Given the description of an element on the screen output the (x, y) to click on. 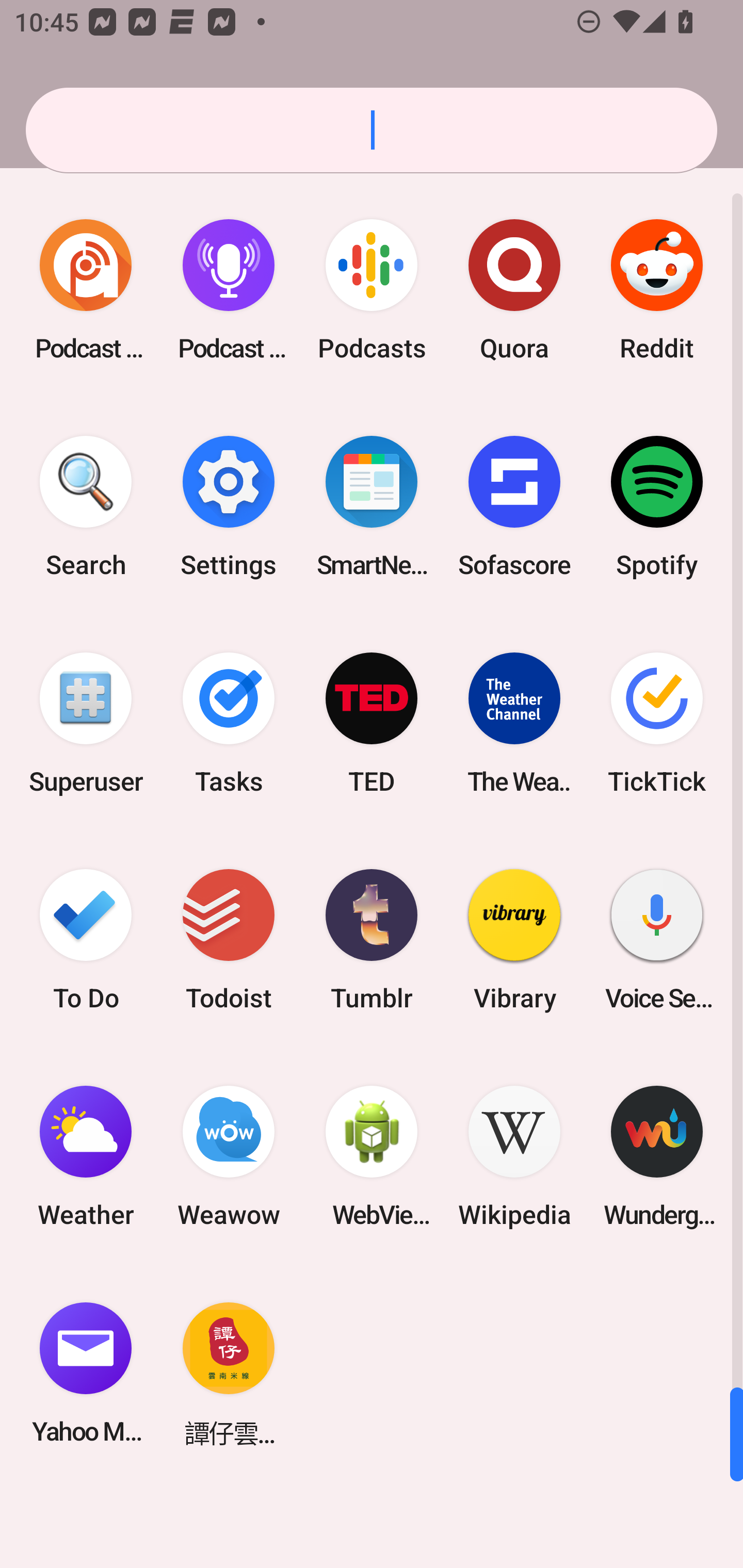
  Search apps (371, 130)
Podcast Addict (85, 289)
Podcast Player (228, 289)
Podcasts (371, 289)
Quora (514, 289)
Reddit (656, 289)
Search (85, 506)
Settings (228, 506)
SmartNews (371, 506)
Sofascore (514, 506)
Spotify (656, 506)
Superuser (85, 722)
Tasks (228, 722)
TED (371, 722)
The Weather Channel (514, 722)
TickTick (656, 722)
To Do (85, 939)
Todoist (228, 939)
Tumblr (371, 939)
Vibrary (514, 939)
Voice Search (656, 939)
Weather (85, 1156)
Weawow (228, 1156)
WebView Browser Tester (371, 1156)
Wikipedia (514, 1156)
Wunderground (656, 1156)
Yahoo Mail (85, 1373)
譚仔雲南米線 (228, 1373)
